Given the description of an element on the screen output the (x, y) to click on. 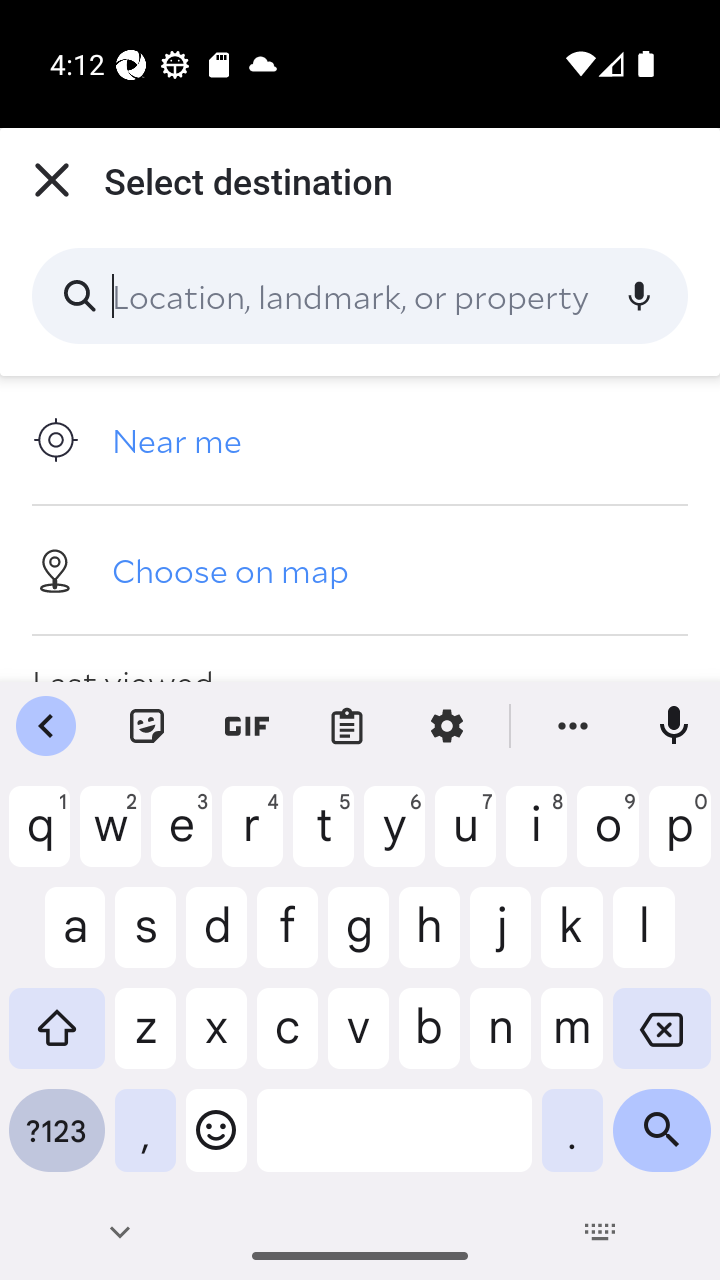
Location, landmark, or property (359, 296)
Near me (360, 440)
Choose on map (360, 569)
